Given the description of an element on the screen output the (x, y) to click on. 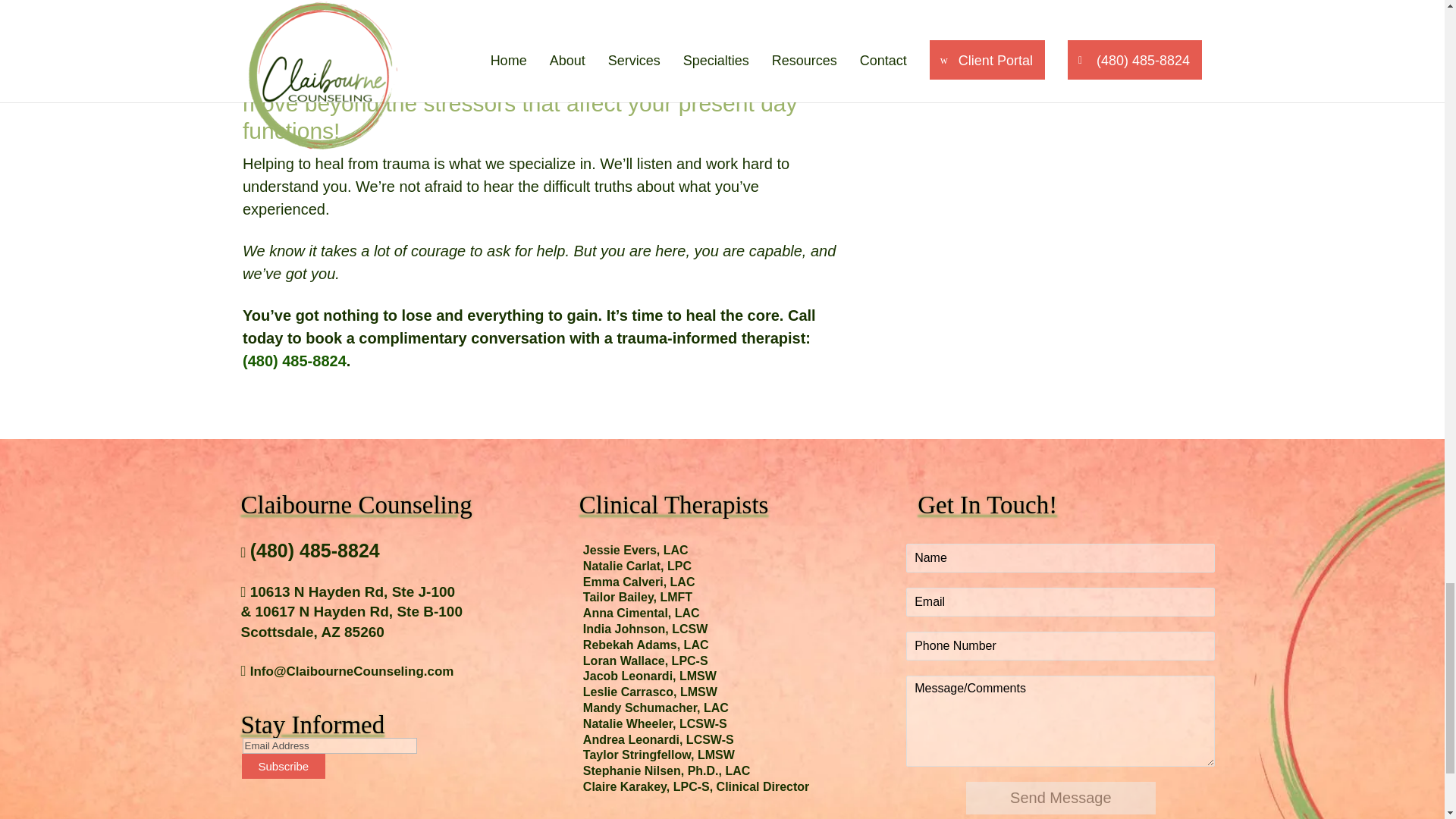
Subscribe (282, 765)
Email Address (329, 745)
